Given the description of an element on the screen output the (x, y) to click on. 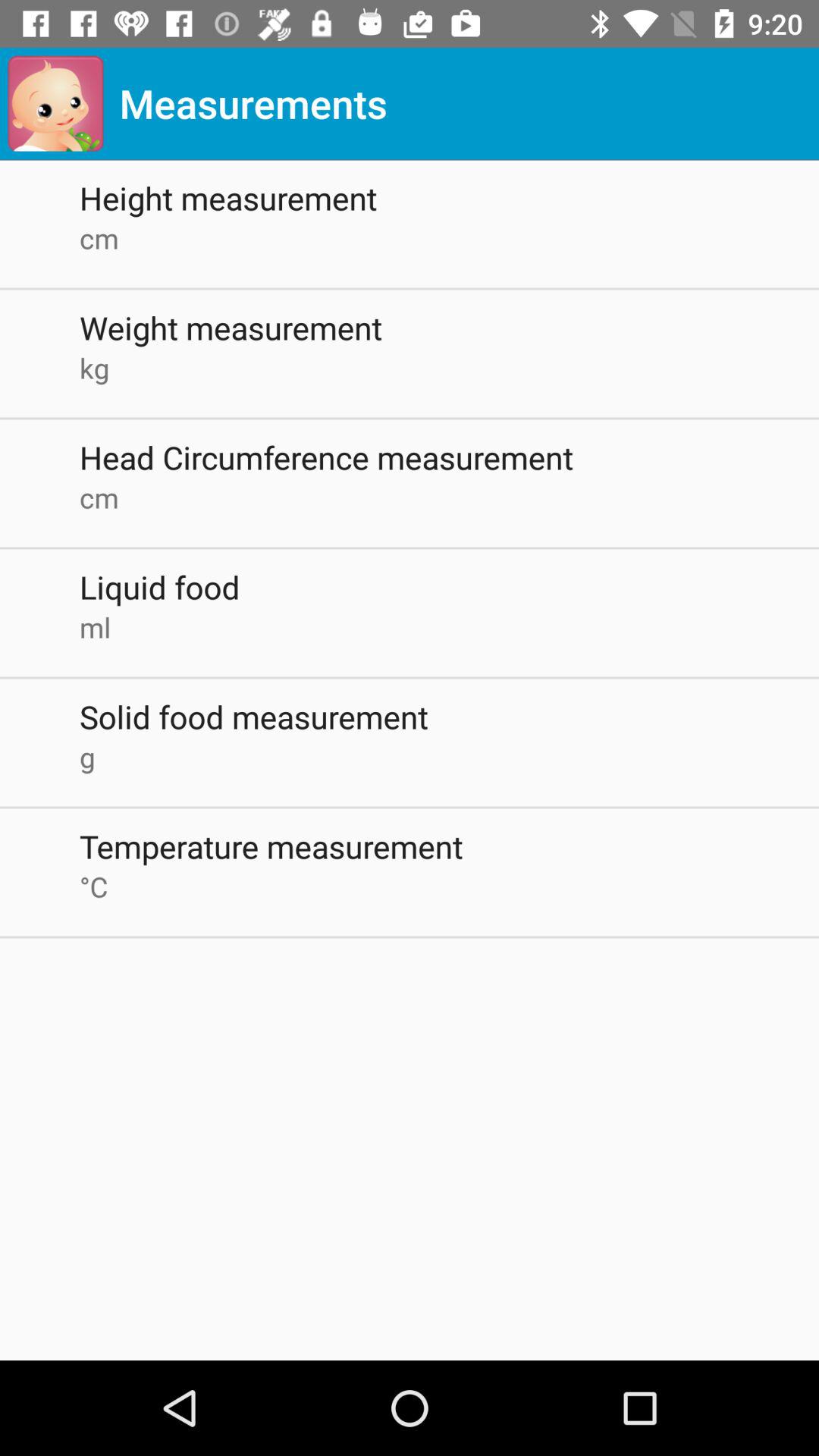
scroll until kg (449, 367)
